Given the description of an element on the screen output the (x, y) to click on. 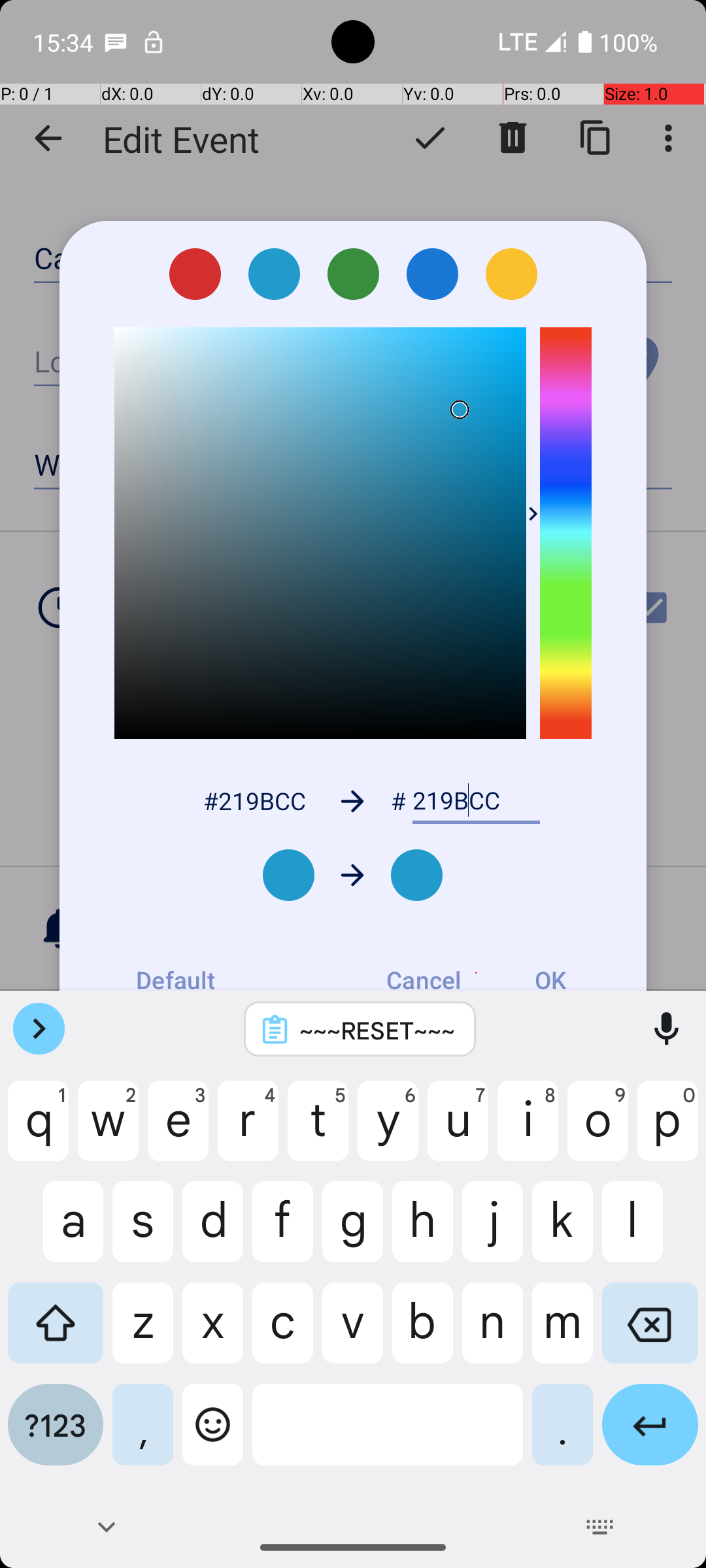
#219BCC Element type: android.widget.TextView (254, 800)
219BCC Element type: android.widget.EditText (475, 800)
Default Element type: android.widget.Button (174, 979)
